Given the description of an element on the screen output the (x, y) to click on. 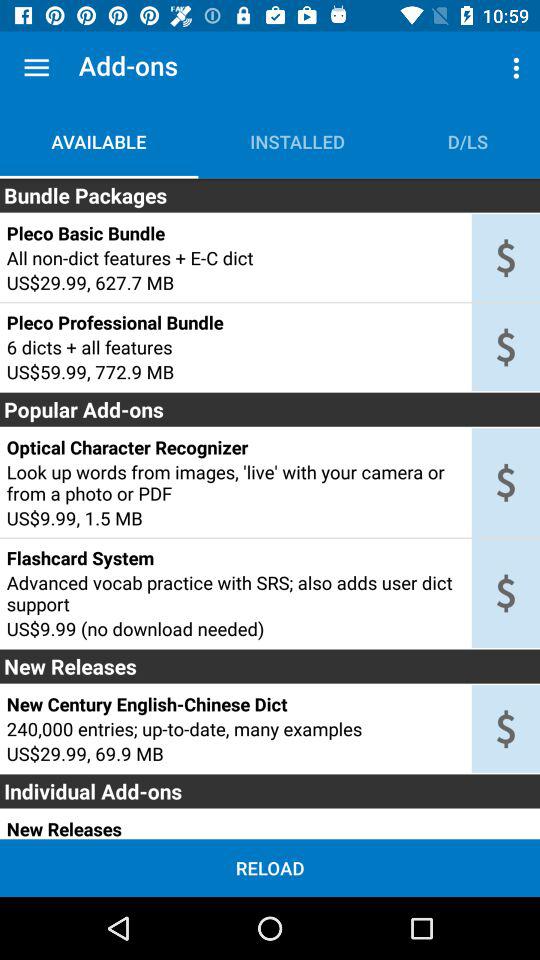
click the icon below the new century english icon (235, 728)
